Given the description of an element on the screen output the (x, y) to click on. 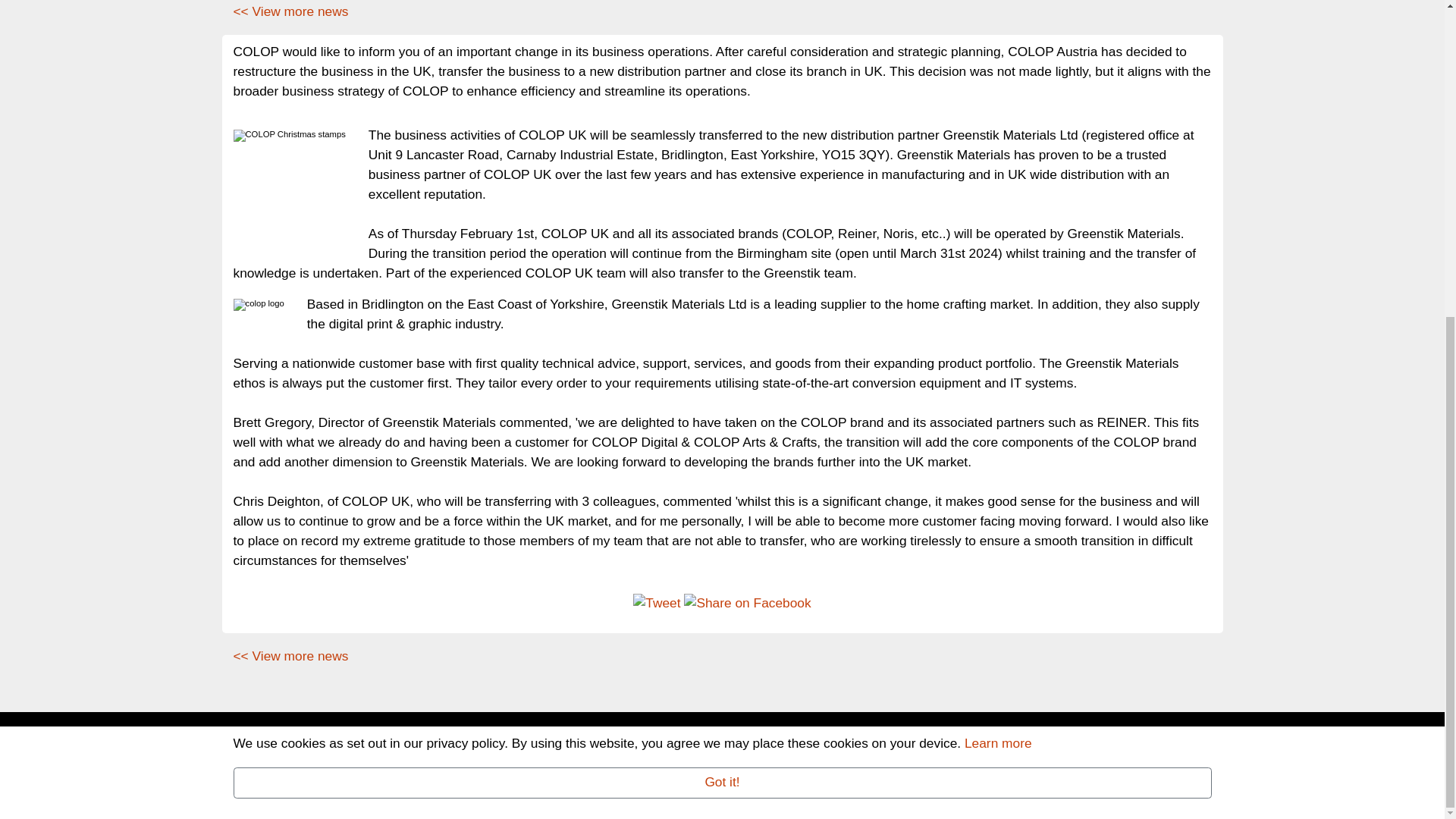
Visit the Ellis Media and Events Ltd website (1139, 744)
View more news (290, 655)
Learn more (997, 232)
Email Ellis Media and Events Ltd (533, 775)
Got it! (721, 272)
View more news (290, 11)
Visit the Ellis Media and Events Ltd website (353, 795)
